Given the description of an element on the screen output the (x, y) to click on. 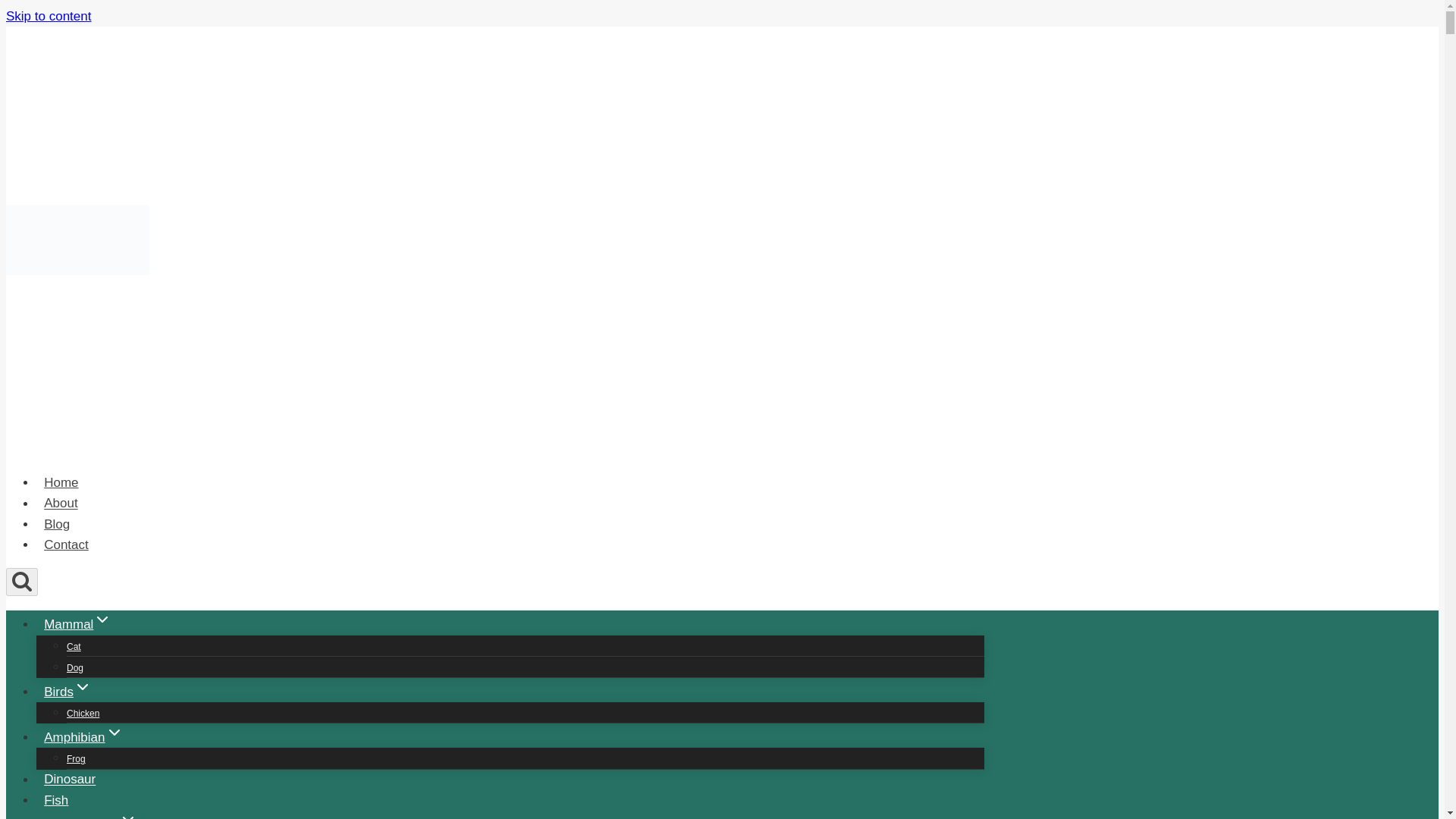
Dinosaur (69, 778)
About (60, 502)
Skip to content (47, 16)
Search (21, 580)
InvertebratesExpand (90, 814)
Skip to content (47, 16)
Expand (82, 687)
Expand (127, 814)
Expand (102, 619)
Expand (113, 732)
Search (21, 582)
Contact (66, 544)
BirdsExpand (67, 691)
Fish (56, 799)
AmphibianExpand (83, 737)
